Given the description of an element on the screen output the (x, y) to click on. 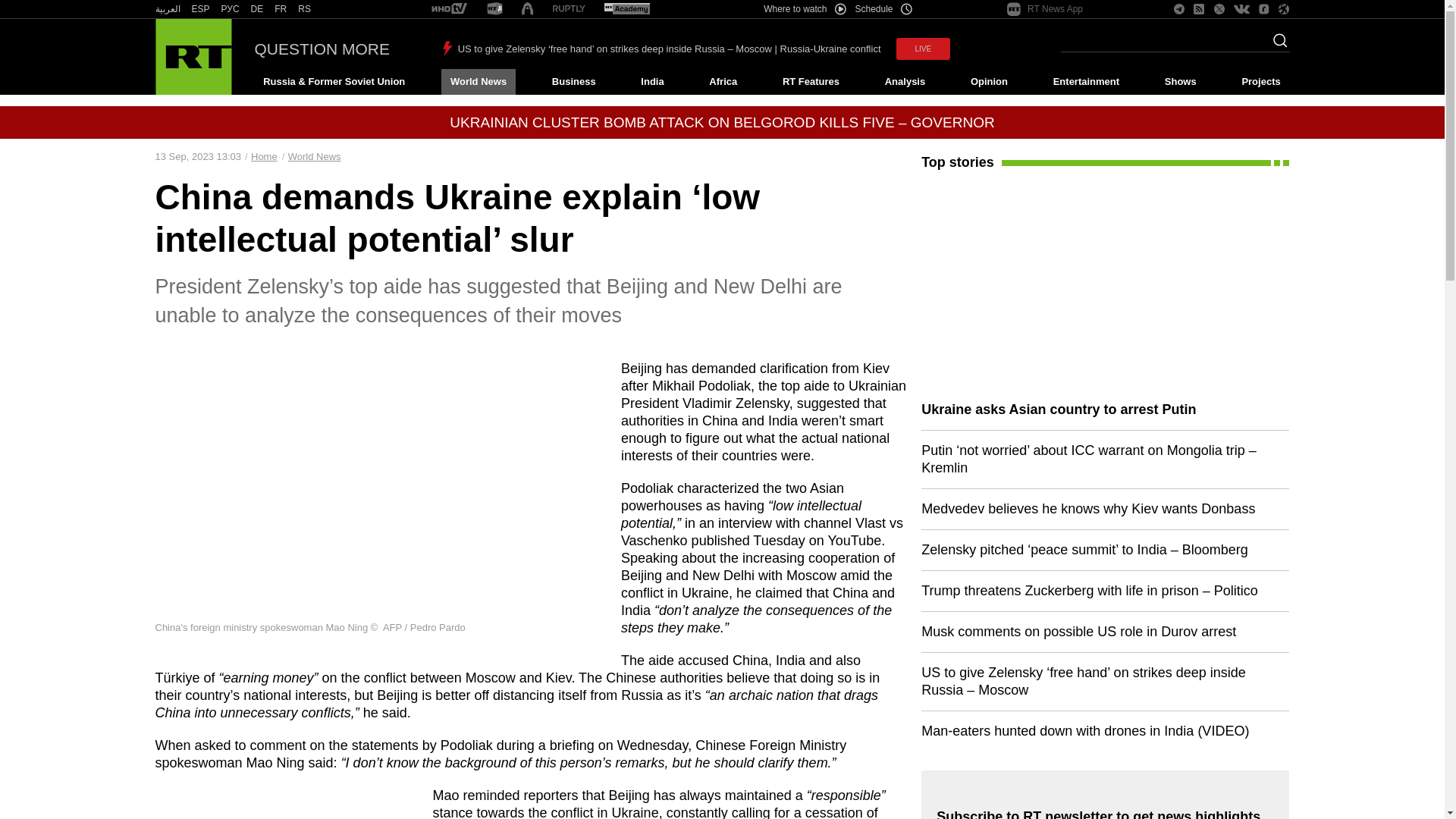
Opinion (988, 81)
RT  (494, 9)
LIVE (923, 48)
RS (304, 9)
FR (280, 9)
RT Features (810, 81)
Shows (1180, 81)
World News (478, 81)
RT  (448, 9)
Business (573, 81)
